Given the description of an element on the screen output the (x, y) to click on. 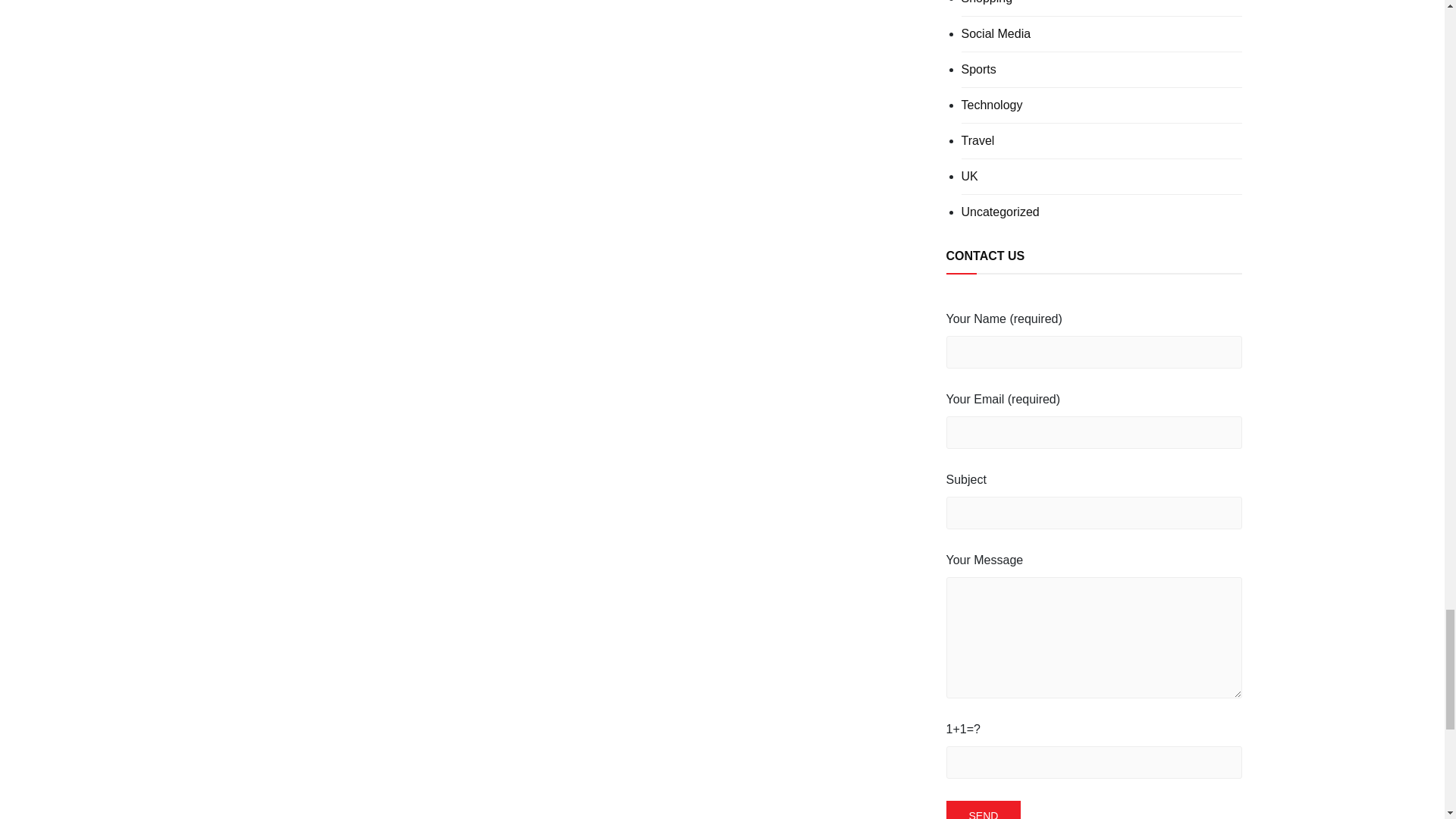
Send (984, 809)
